Given the description of an element on the screen output the (x, y) to click on. 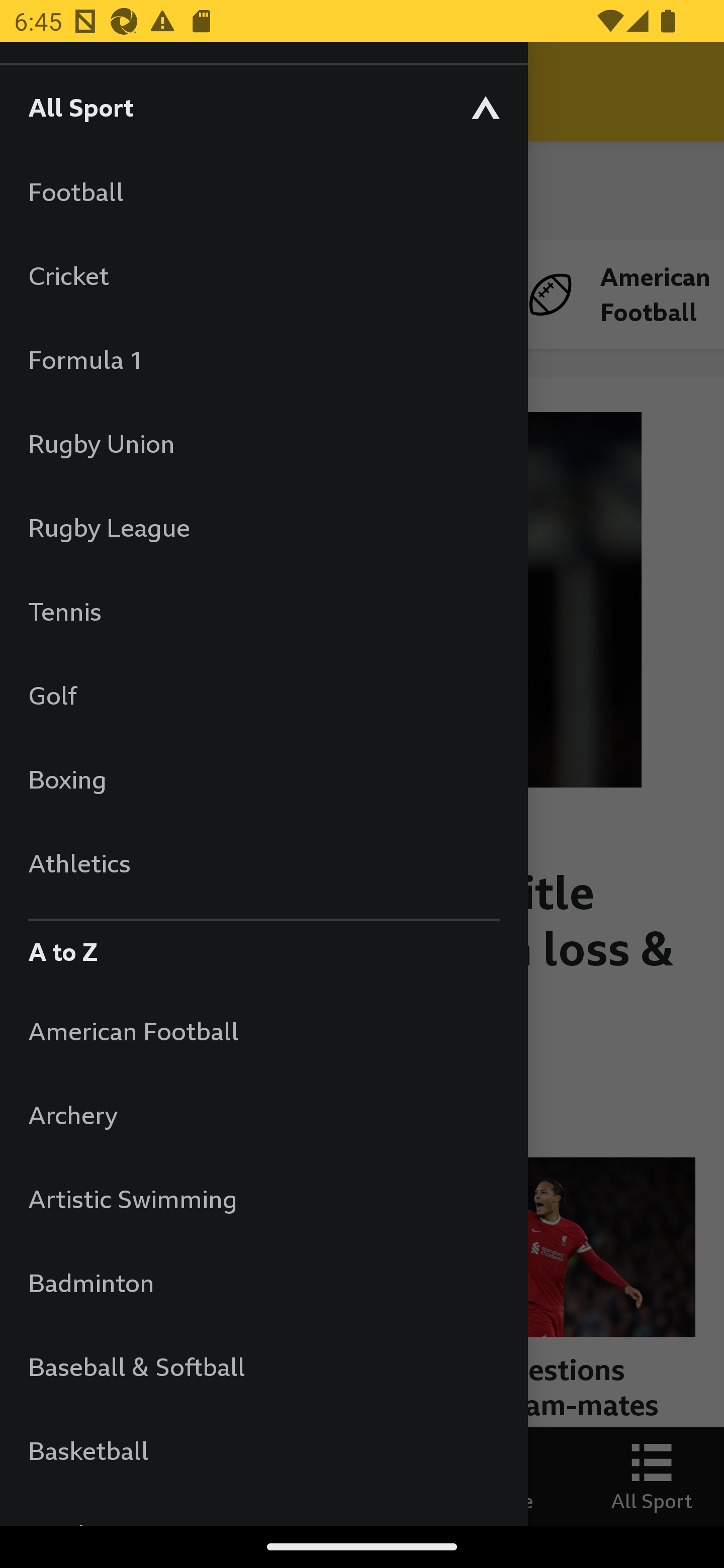
All Sport (263, 106)
Football (263, 190)
Cricket (263, 275)
Formula 1 (263, 358)
Rugby Union (263, 443)
Rugby League (263, 526)
Tennis (263, 611)
Golf (263, 694)
Boxing (263, 778)
Athletics (263, 862)
A to Z (263, 946)
American Football (263, 1029)
Archery (263, 1114)
Artistic Swimming (263, 1198)
Badminton (263, 1282)
Baseball & Softball (263, 1366)
Basketball (263, 1450)
